Given the description of an element on the screen output the (x, y) to click on. 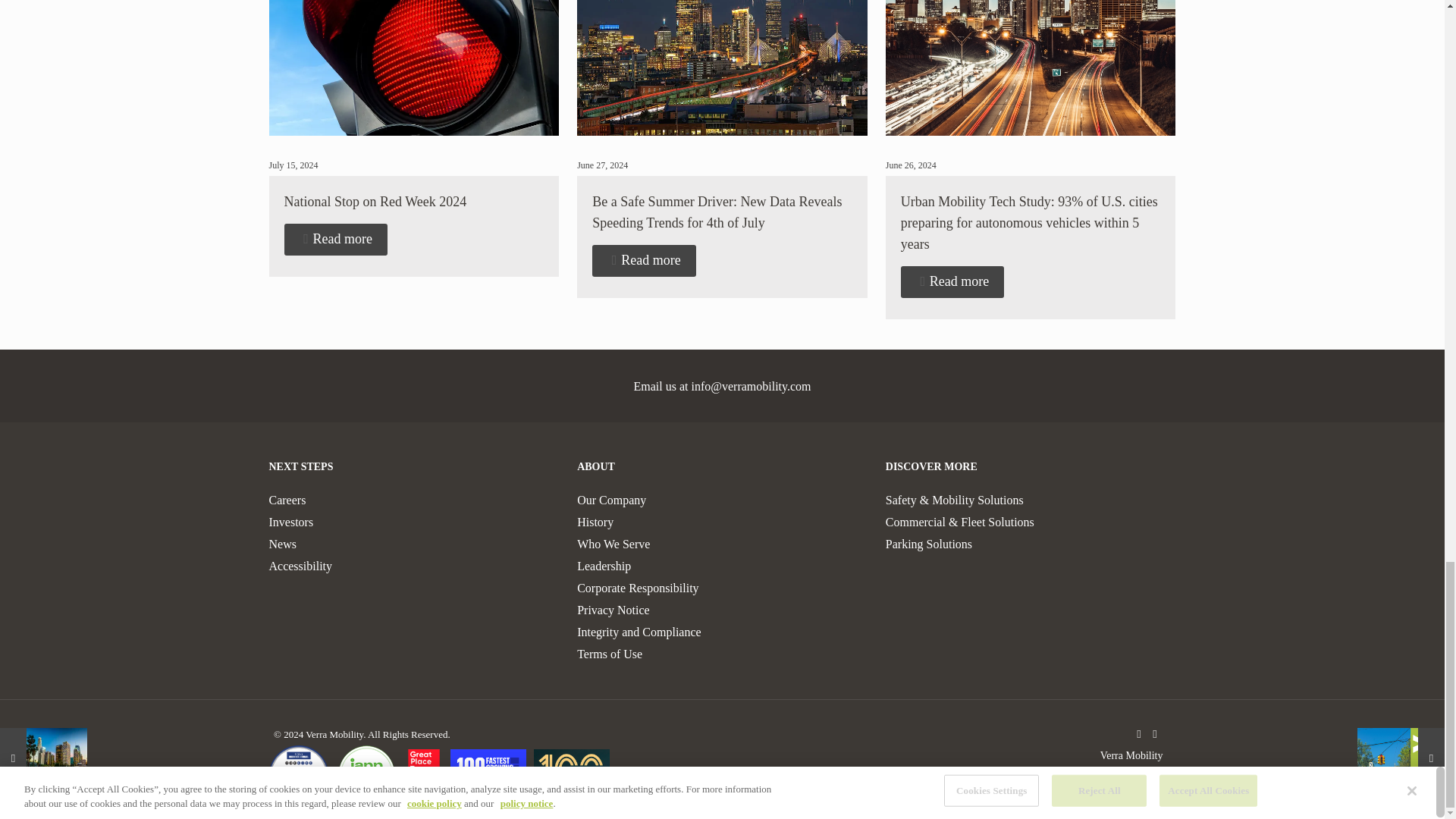
LinkedIn (1155, 734)
Accessibility (299, 565)
Facebook (1138, 734)
